Given the description of an element on the screen output the (x, y) to click on. 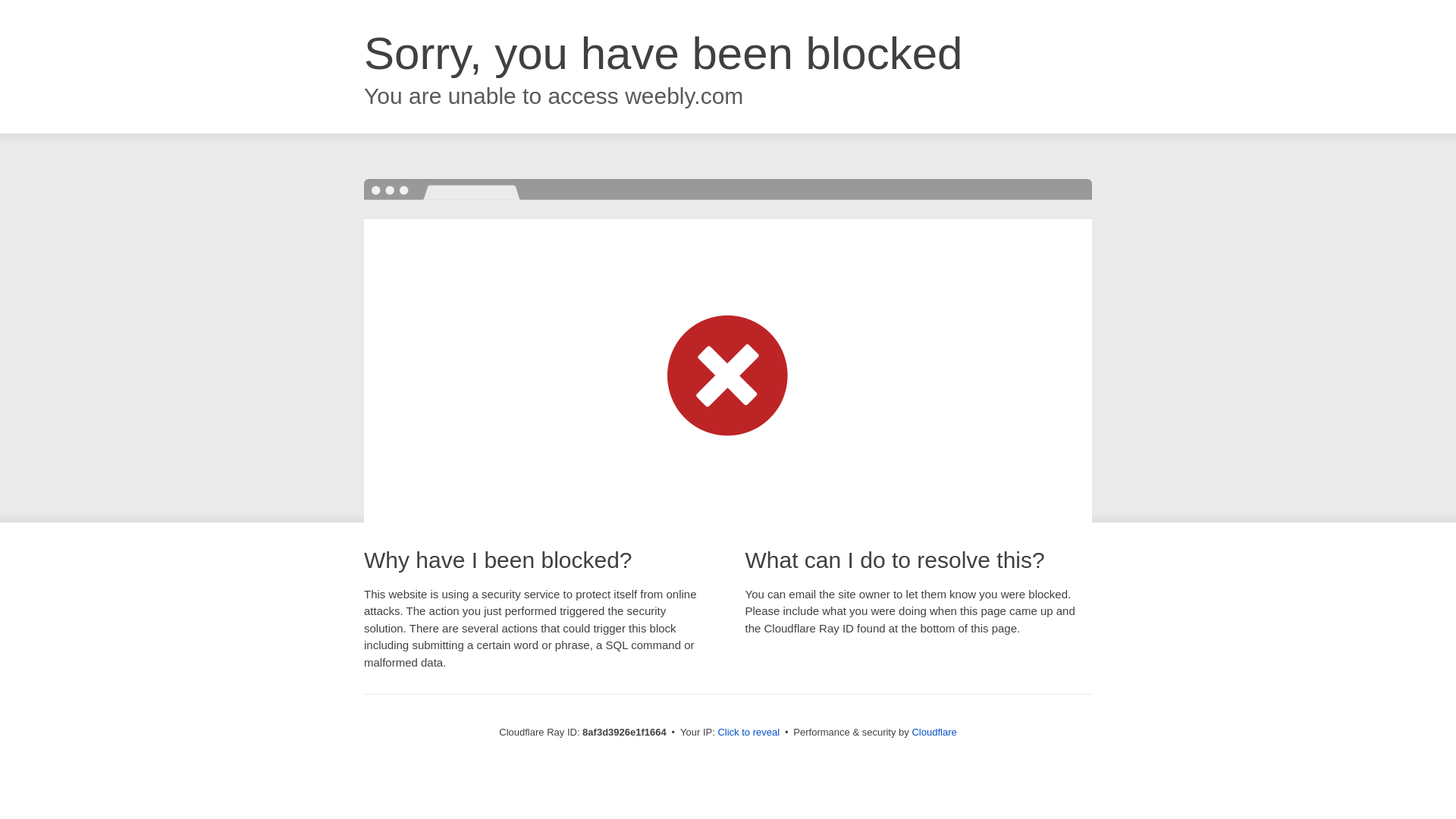
Click to reveal (747, 732)
Cloudflare (933, 731)
